Given the description of an element on the screen output the (x, y) to click on. 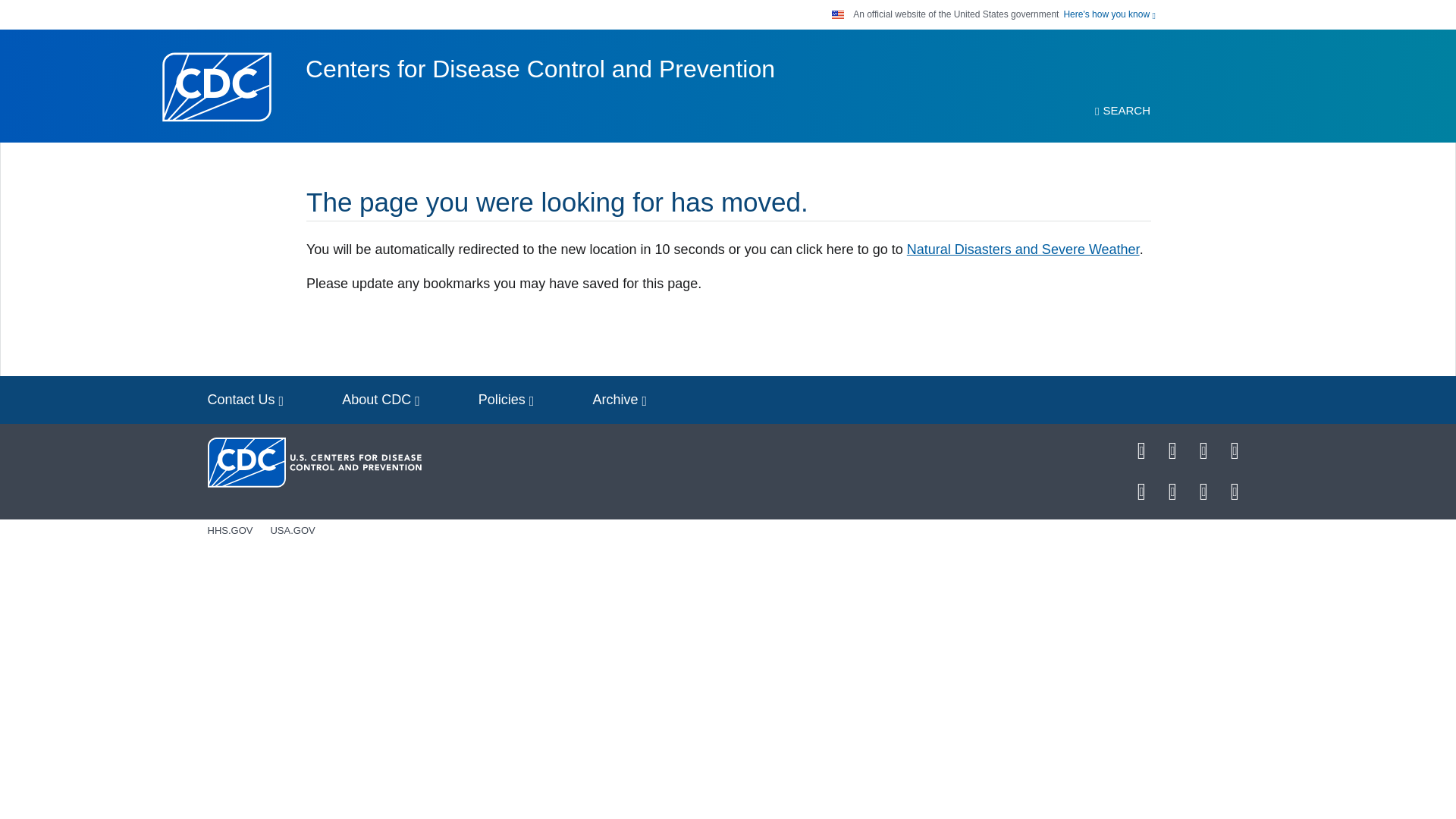
Archive (619, 399)
About CDC (381, 399)
Policies (506, 399)
SEARCH (1122, 110)
Here's how you know (1108, 14)
Natural Disasters and Severe Weather (1023, 249)
Centers for Disease Control and Prevention (539, 68)
Contact Us (245, 399)
